Given the description of an element on the screen output the (x, y) to click on. 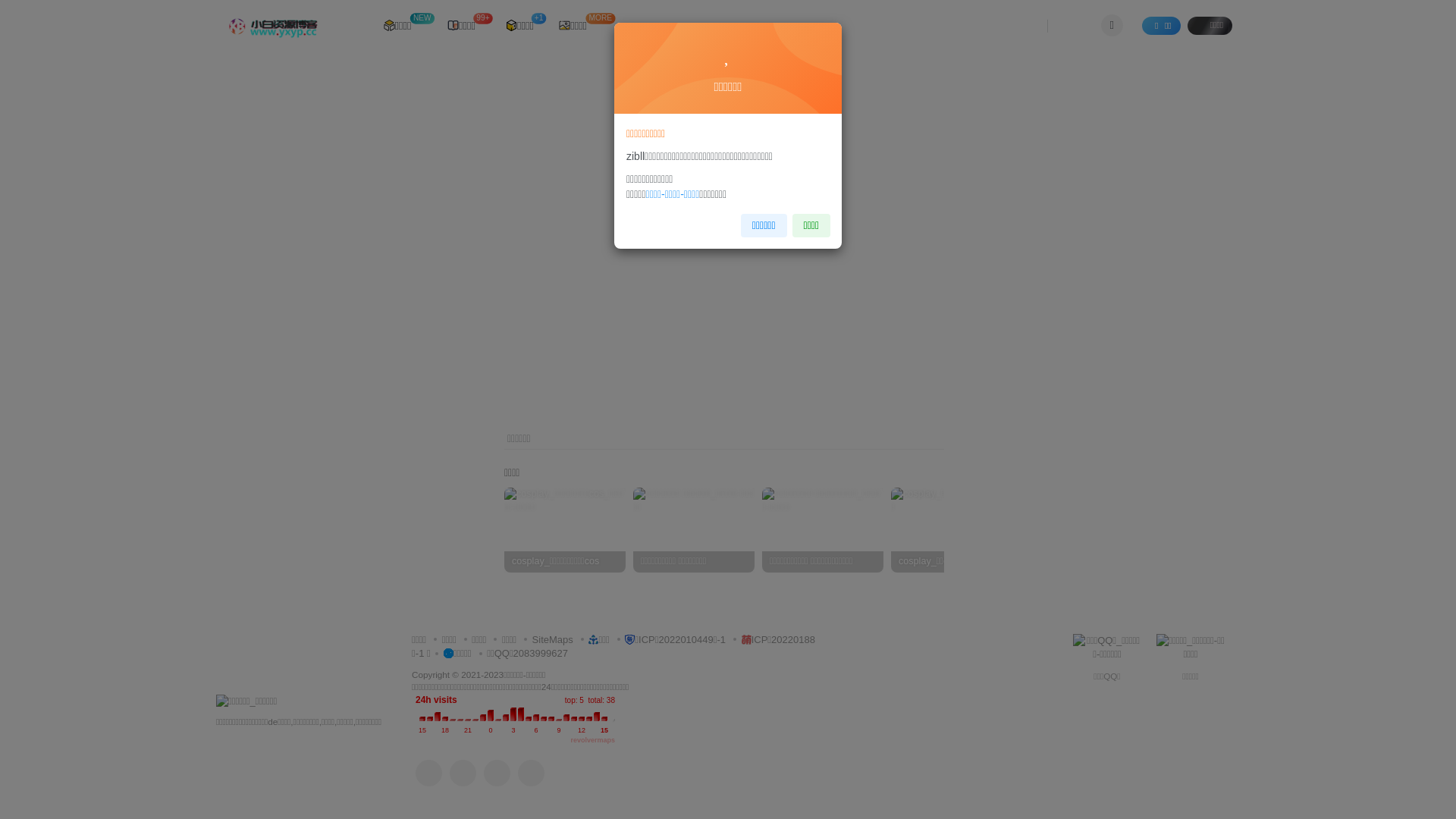
Advertisement Element type: hover (724, 248)
SiteMaps Element type: text (546, 639)
